Given the description of an element on the screen output the (x, y) to click on. 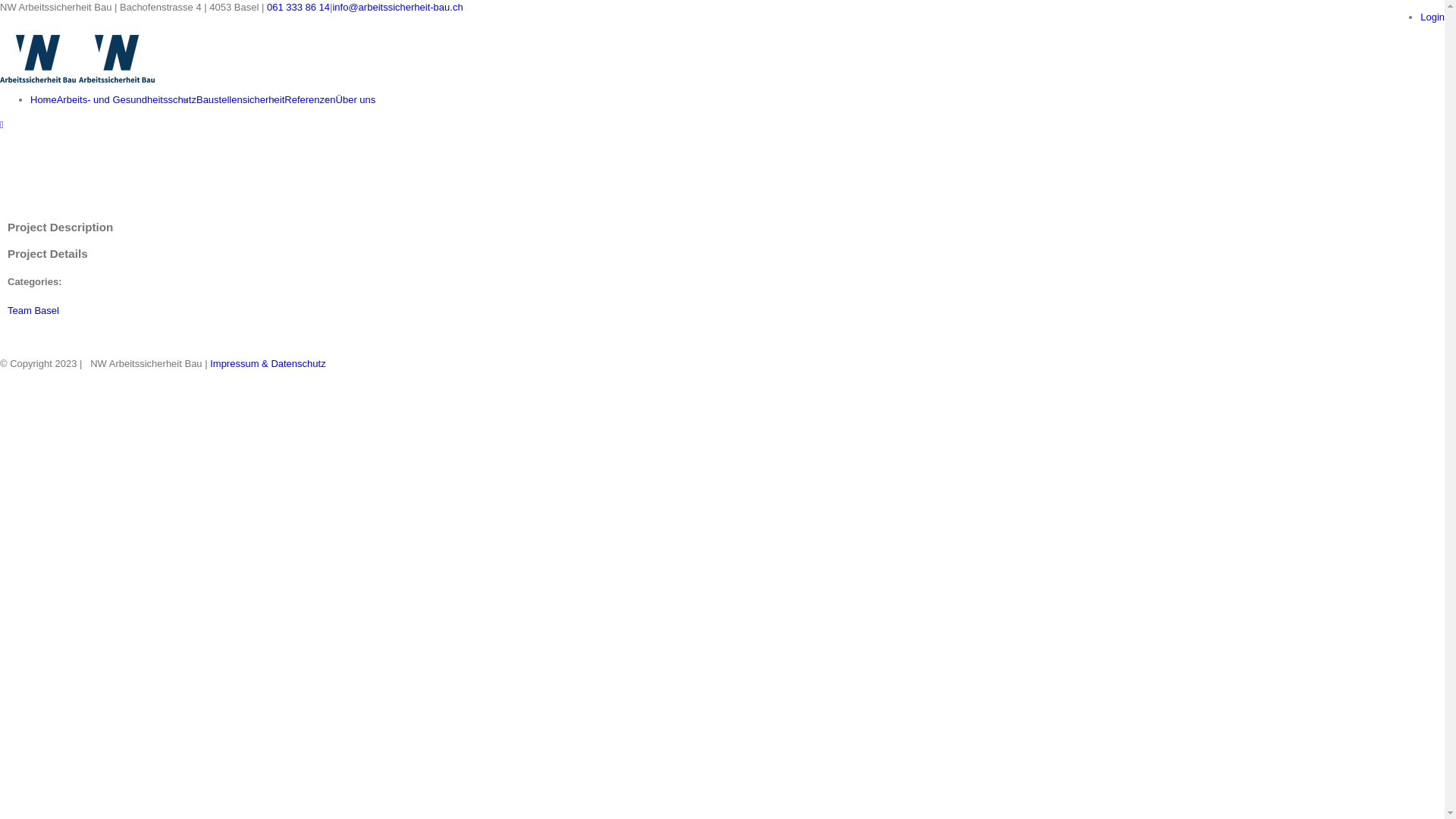
061 333 86 14 Element type: text (297, 6)
Home Element type: text (43, 99)
info@arbeitssicherheit-bau.ch Element type: text (397, 6)
Arbeits- und Gesundheitsschutz Element type: text (126, 99)
Impressum & Datenschutz Element type: text (267, 363)
Baustellensicherheit Element type: text (240, 99)
Referenzen Element type: text (309, 99)
Team Basel Element type: text (33, 310)
Login Element type: text (1432, 16)
